Given the description of an element on the screen output the (x, y) to click on. 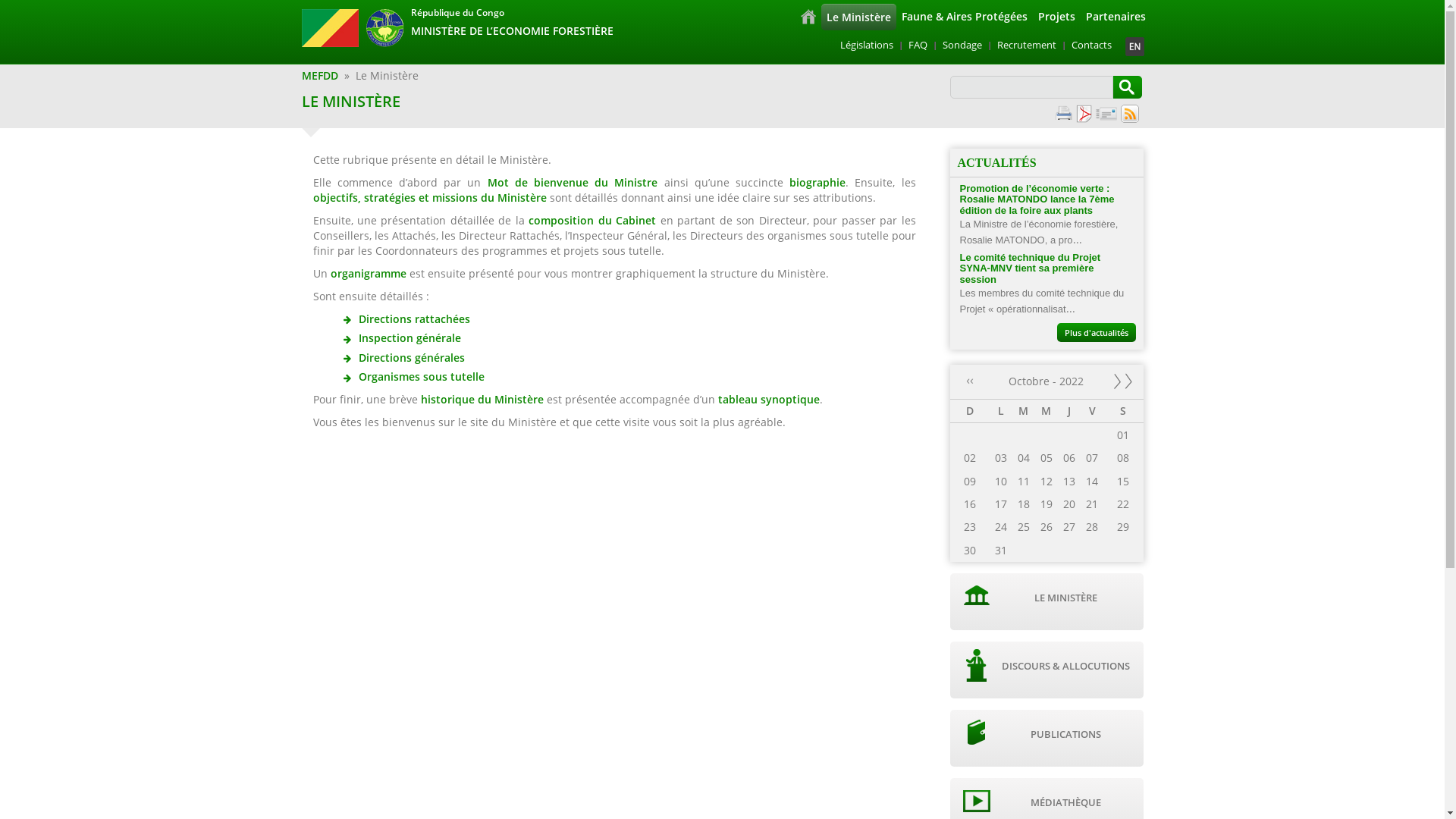
DISCOURS & ALLOCUTIONS Element type: text (1045, 669)
Mot de bienvenue du Ministre Element type: text (571, 182)
Mois suivant Element type: hover (1122, 380)
composition du Cabinet Element type: text (591, 220)
Flux RSS Element type: hover (1129, 112)
Recrutement Element type: text (1026, 44)
Accueil Element type: hover (807, 16)
biographie Element type: text (817, 182)
Sondage Element type: text (961, 44)
Contacts Element type: text (1091, 44)
tableau synoptique Element type: text (768, 399)
organigramme Element type: text (369, 273)
Print Element type: text (1059, 112)
Projets Element type: text (1056, 16)
Organismes sous tutelle Element type: text (420, 376)
English Element type: hover (1134, 46)
FAQ Element type: text (916, 44)
PUBLICATIONS Element type: text (1045, 737)
PDF Element type: hover (1083, 113)
Partenaires Element type: text (1114, 16)
MEFDD Element type: text (319, 75)
